Given the description of an element on the screen output the (x, y) to click on. 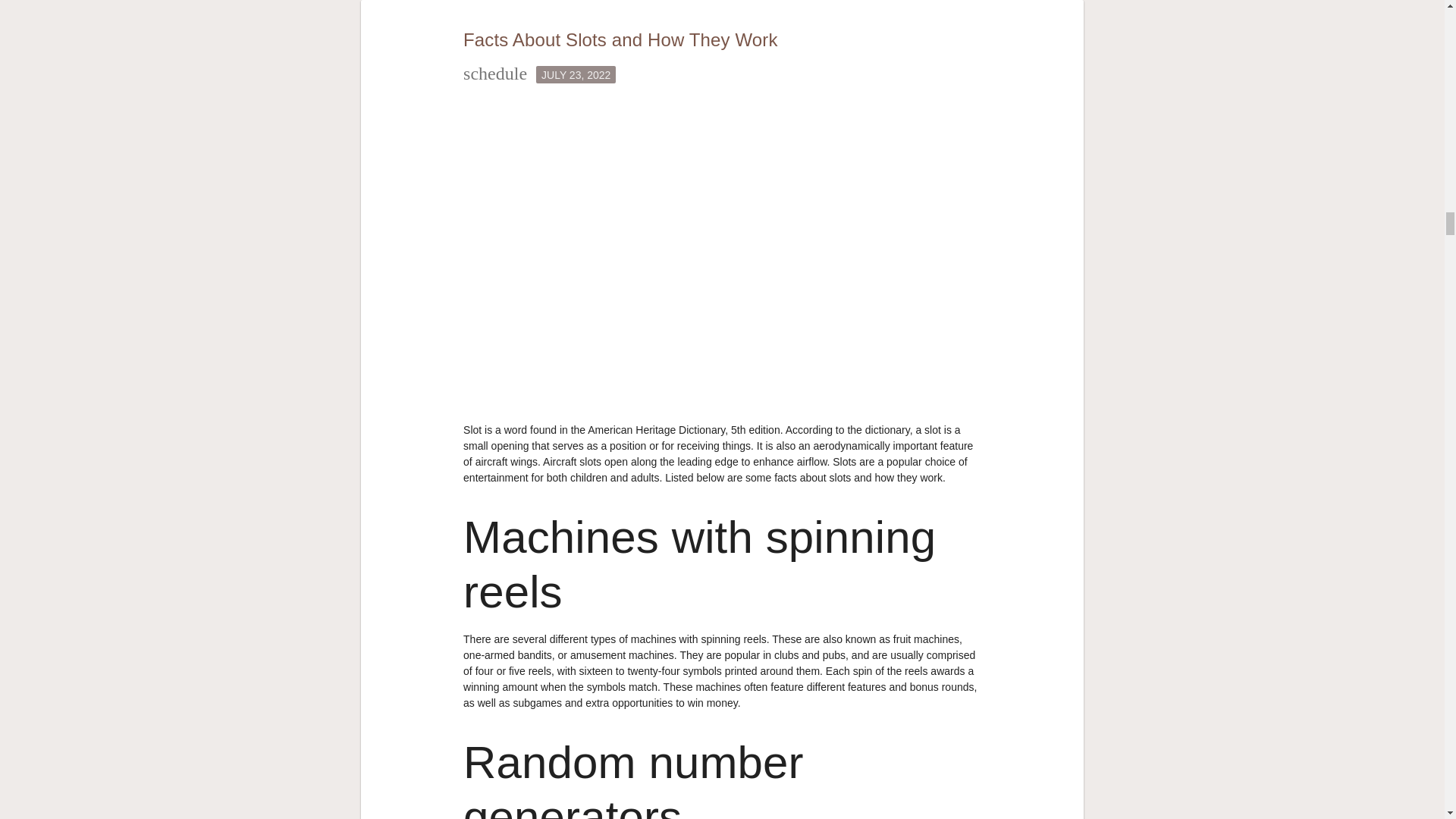
Facts About Slots and How They Work (620, 39)
JULY 23, 2022 (575, 74)
